Given the description of an element on the screen output the (x, y) to click on. 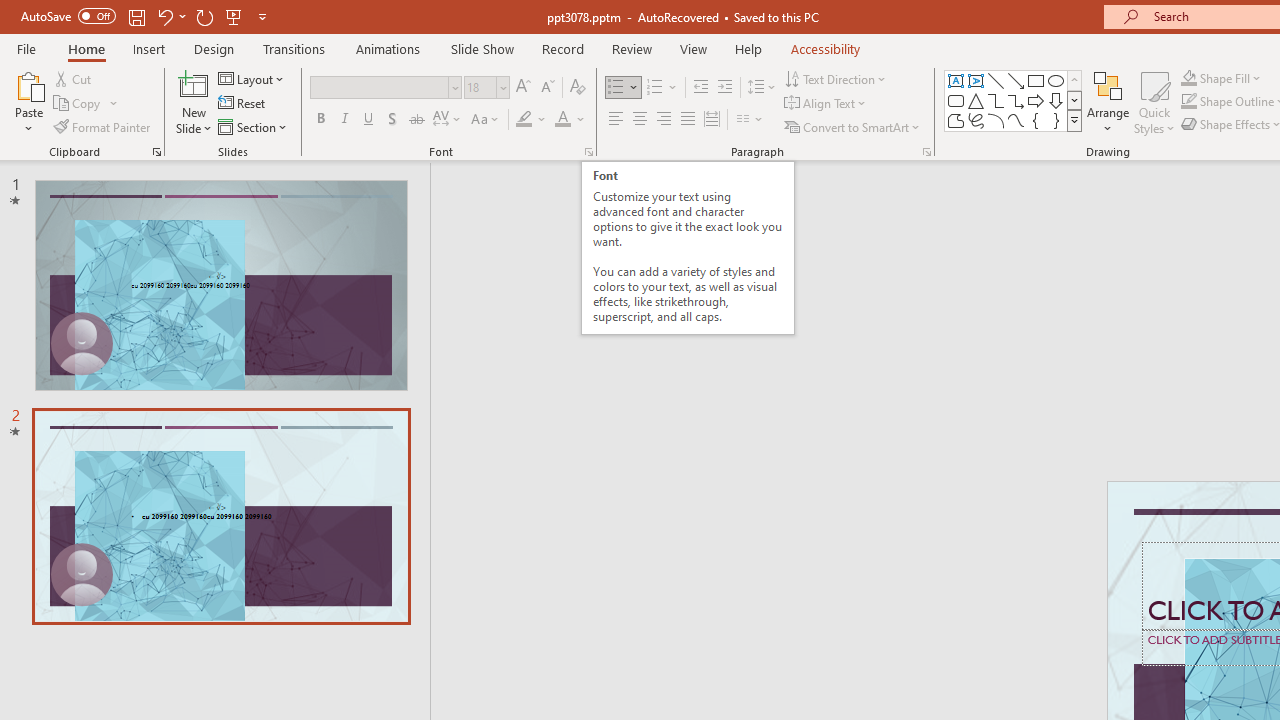
Center (639, 119)
Arrange (1108, 102)
Decrease Font Size (547, 87)
Quick Access Toolbar (145, 16)
Italic (344, 119)
Line Arrow (1016, 80)
Distributed (712, 119)
Font Size (480, 87)
Record (562, 48)
Arrow: Right (1035, 100)
Line (995, 80)
Line Spacing (762, 87)
Font Color Red (562, 119)
Decrease Indent (700, 87)
Bold (320, 119)
